Given the description of an element on the screen output the (x, y) to click on. 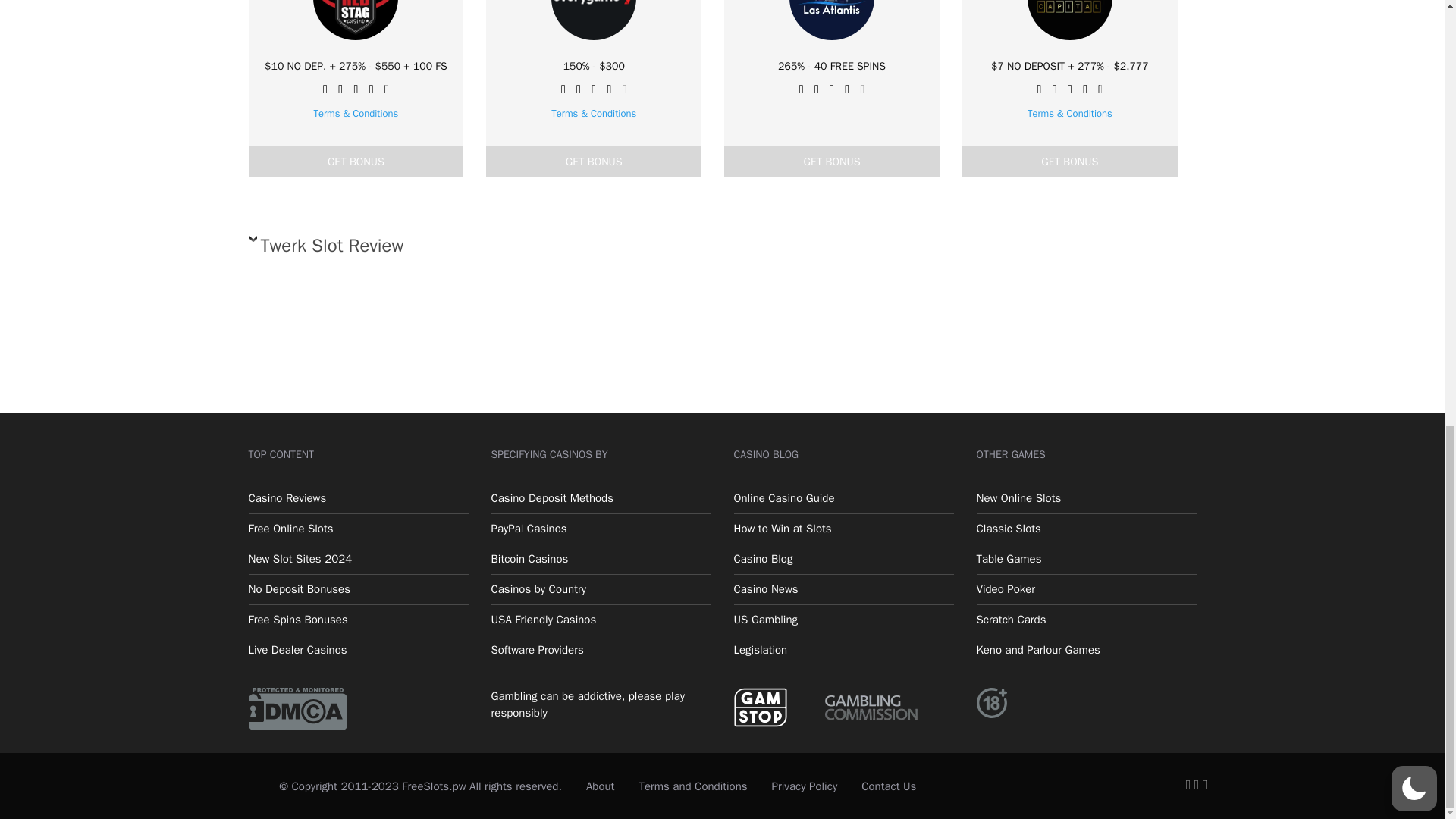
Ice pirates (1080, 280)
DMCA.com Protection Status (297, 707)
100 Zombies (1080, 123)
Twerk Slot Review (591, 249)
Buffalo 50 (1080, 11)
